Given the description of an element on the screen output the (x, y) to click on. 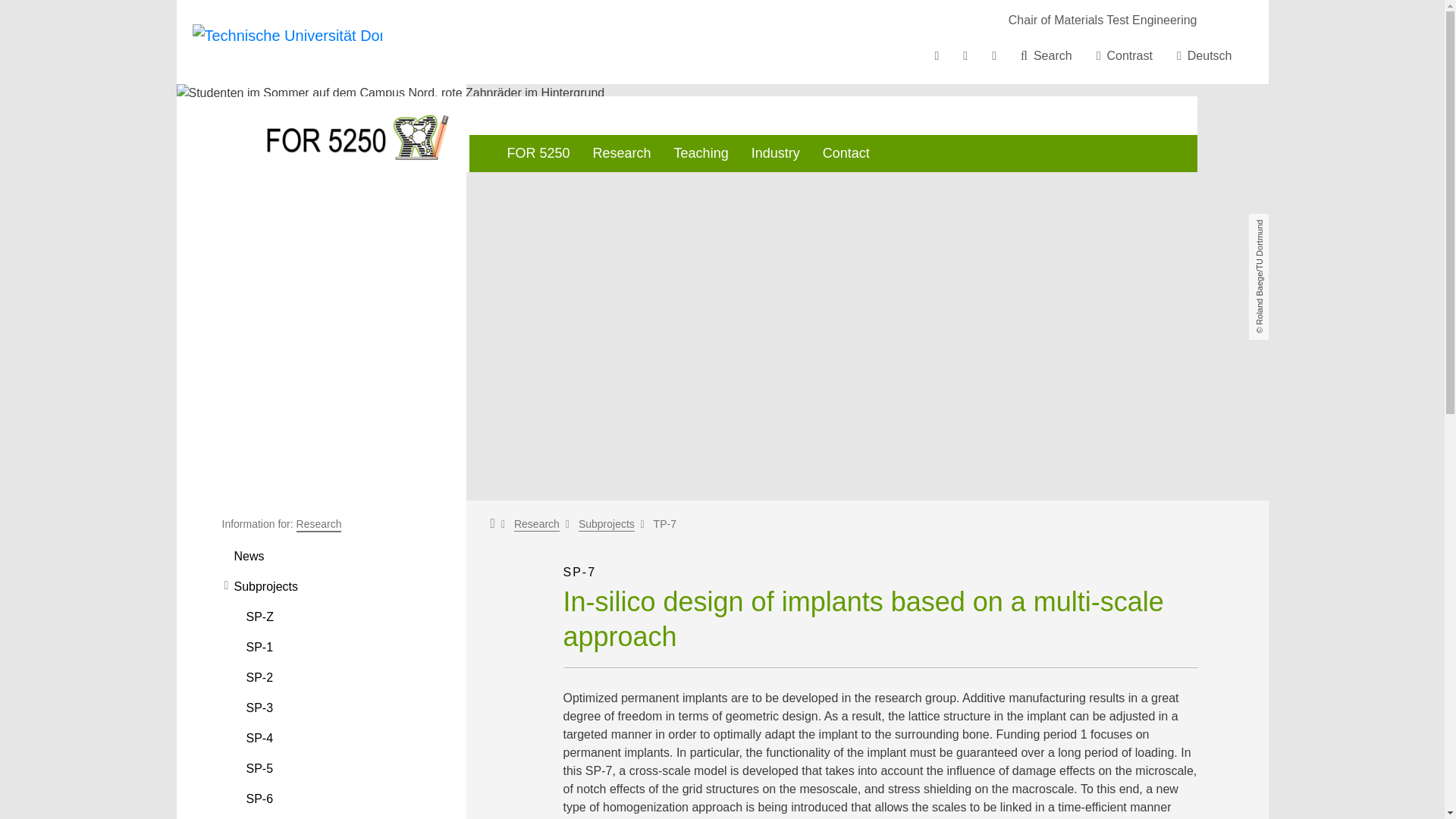
Contrast (1124, 55)
To the home page (286, 41)
Deutsch (1204, 55)
Search (1046, 55)
Logo FOR 5250 (357, 133)
Subprojects (606, 524)
Research (536, 524)
Search (1046, 55)
Chair of Materials Test Engineering (1102, 19)
